Given the description of an element on the screen output the (x, y) to click on. 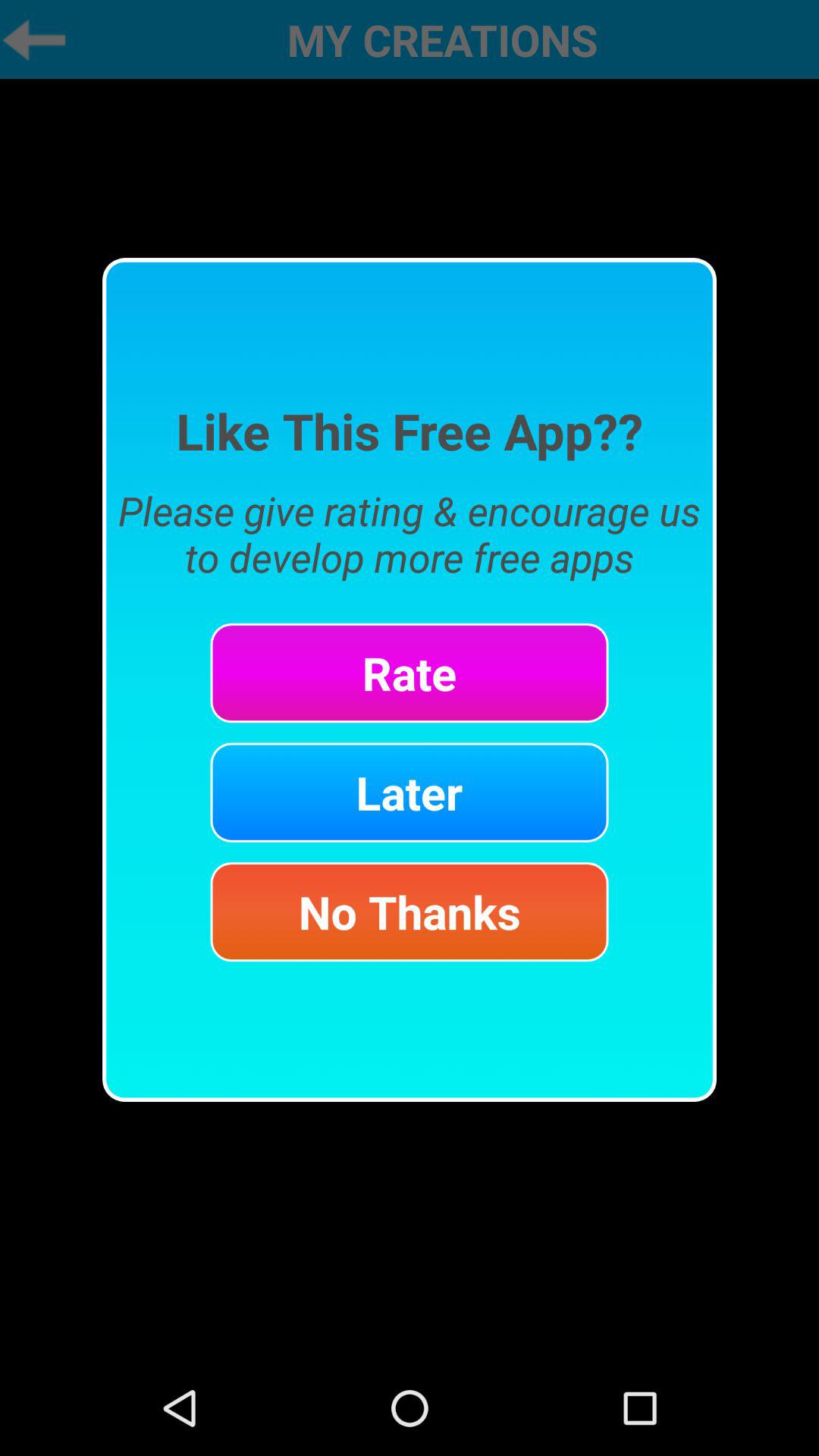
tap later (409, 792)
